Given the description of an element on the screen output the (x, y) to click on. 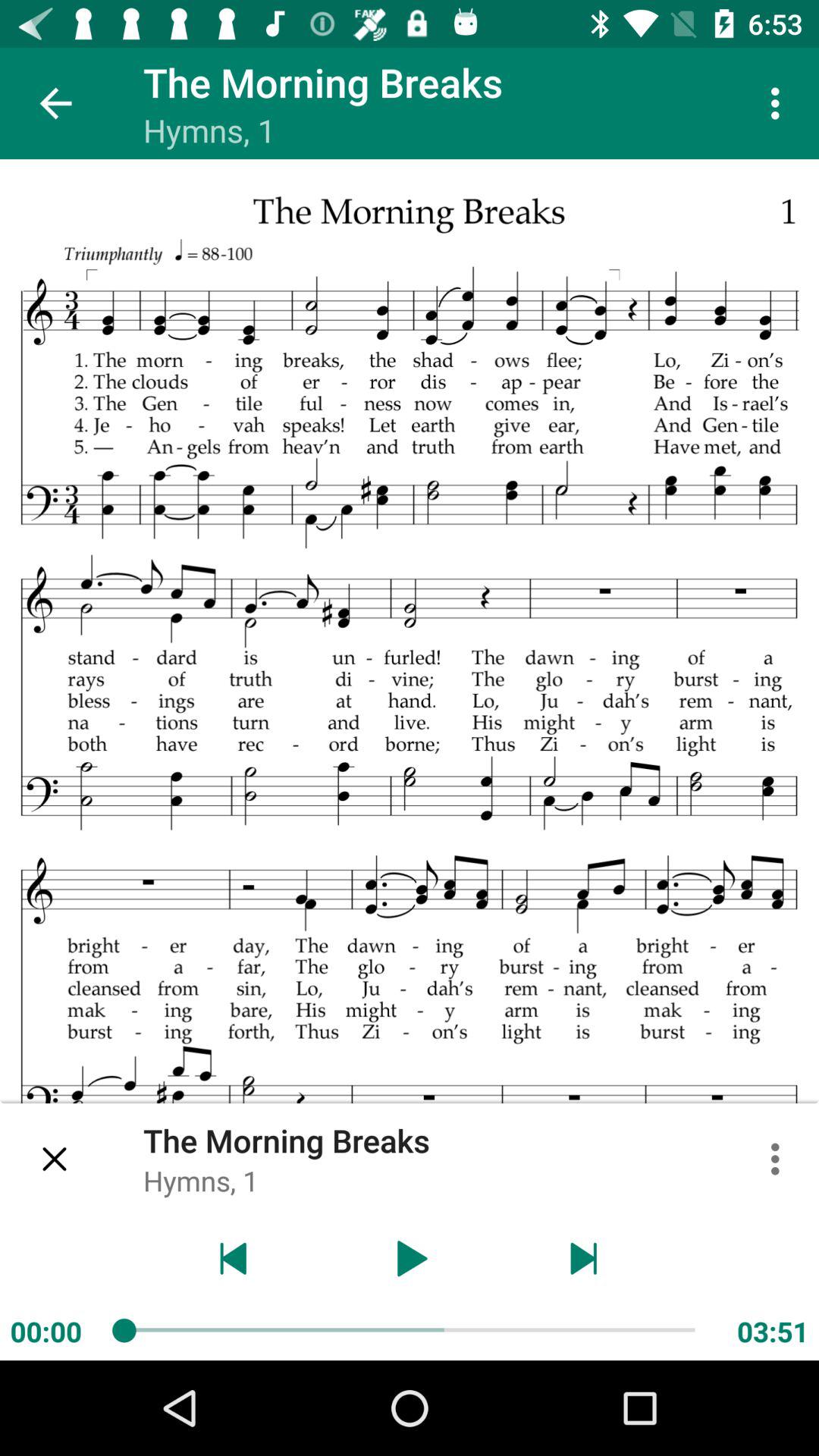
exit song (55, 1158)
